Given the description of an element on the screen output the (x, y) to click on. 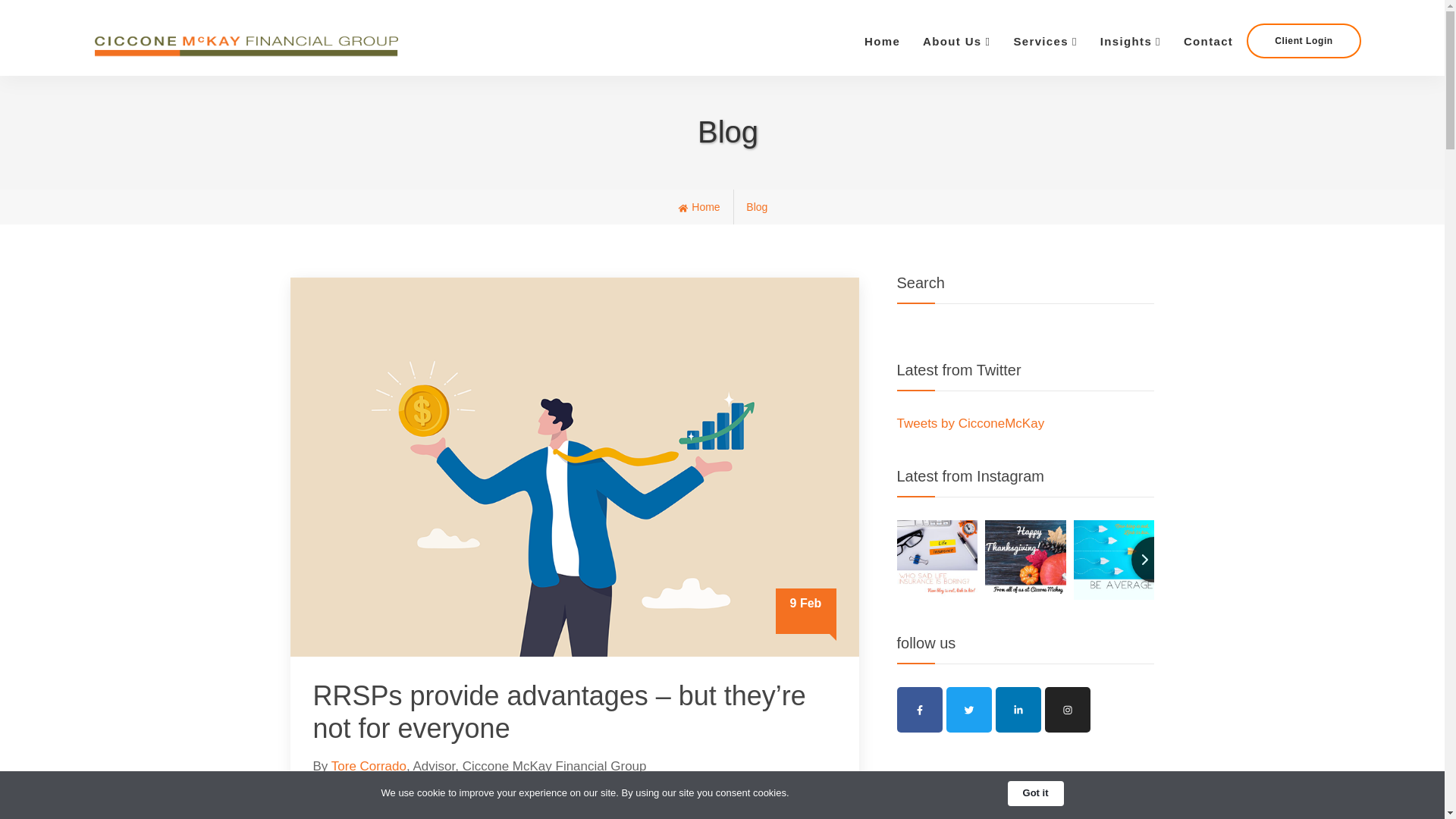
Tweets by CicconeMcKay (969, 423)
Insights (1130, 41)
Contact (1208, 41)
Tore Corrado (368, 766)
Blog (756, 206)
9 Feb (574, 466)
Services (1044, 41)
Home (698, 206)
About Us (956, 41)
Client Login (1303, 40)
